Given the description of an element on the screen output the (x, y) to click on. 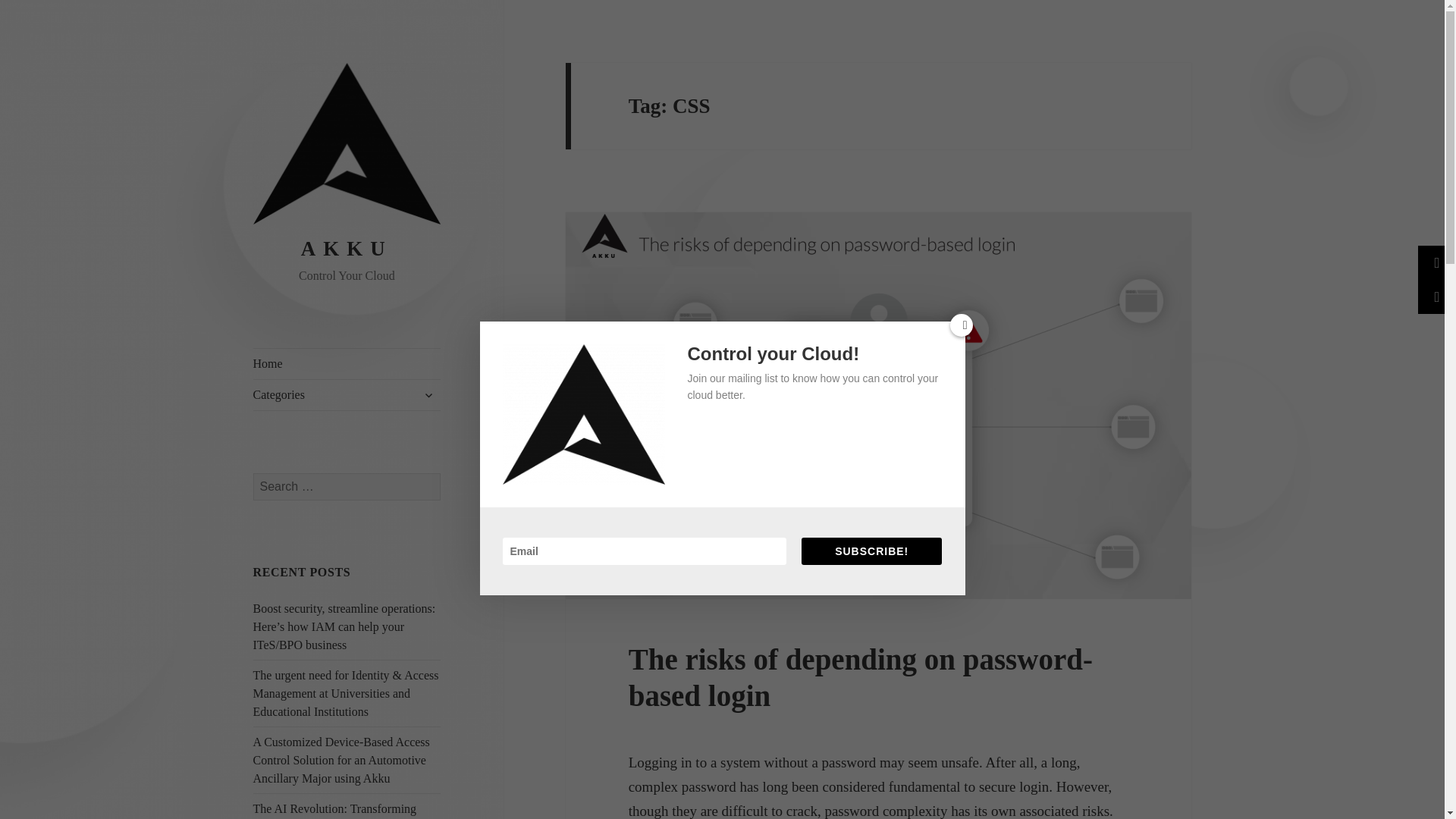
The AI Revolution: Transforming Cybersecurity (334, 810)
AKKU (347, 248)
expand child menu (428, 395)
The risks of depending on password-based login (860, 676)
Categories (347, 395)
SUBSCRIBE! (872, 551)
Home (347, 363)
